Given the description of an element on the screen output the (x, y) to click on. 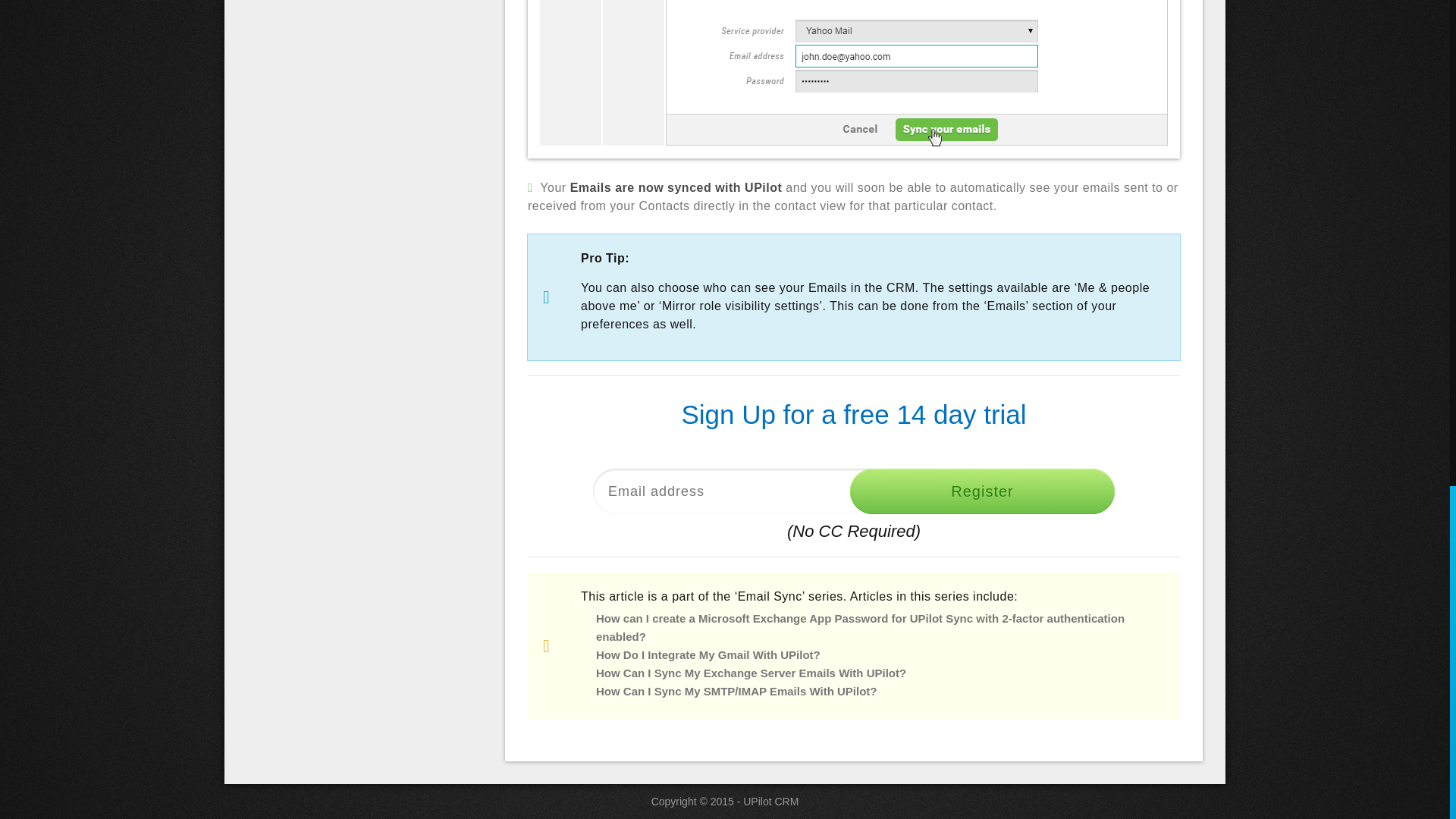
How Do I Integrate My Gmail With UPilot? (708, 654)
How Can I Sync My Exchange Server Emails With UPilot? (750, 672)
